Given the description of an element on the screen output the (x, y) to click on. 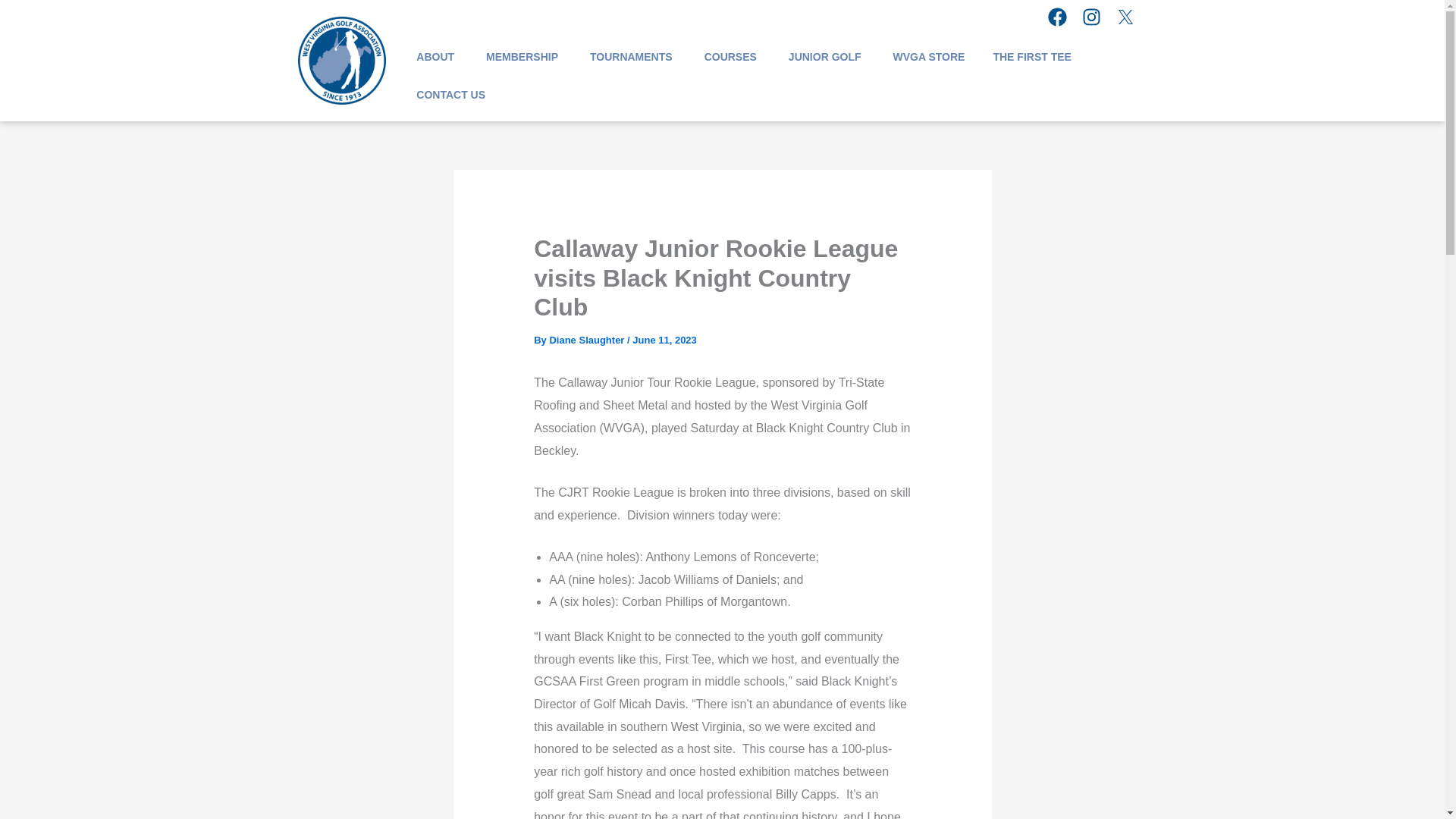
WVGA STORE (927, 56)
Instagram (1096, 22)
Facebook (1063, 22)
COURSES (730, 56)
ABOUT (435, 56)
MEMBERSHIP (522, 56)
View all posts by Diane Slaughter (587, 339)
THE FIRST TEE (1029, 56)
TOURNAMENTS (631, 56)
JUNIOR GOLF (825, 56)
